Given the description of an element on the screen output the (x, y) to click on. 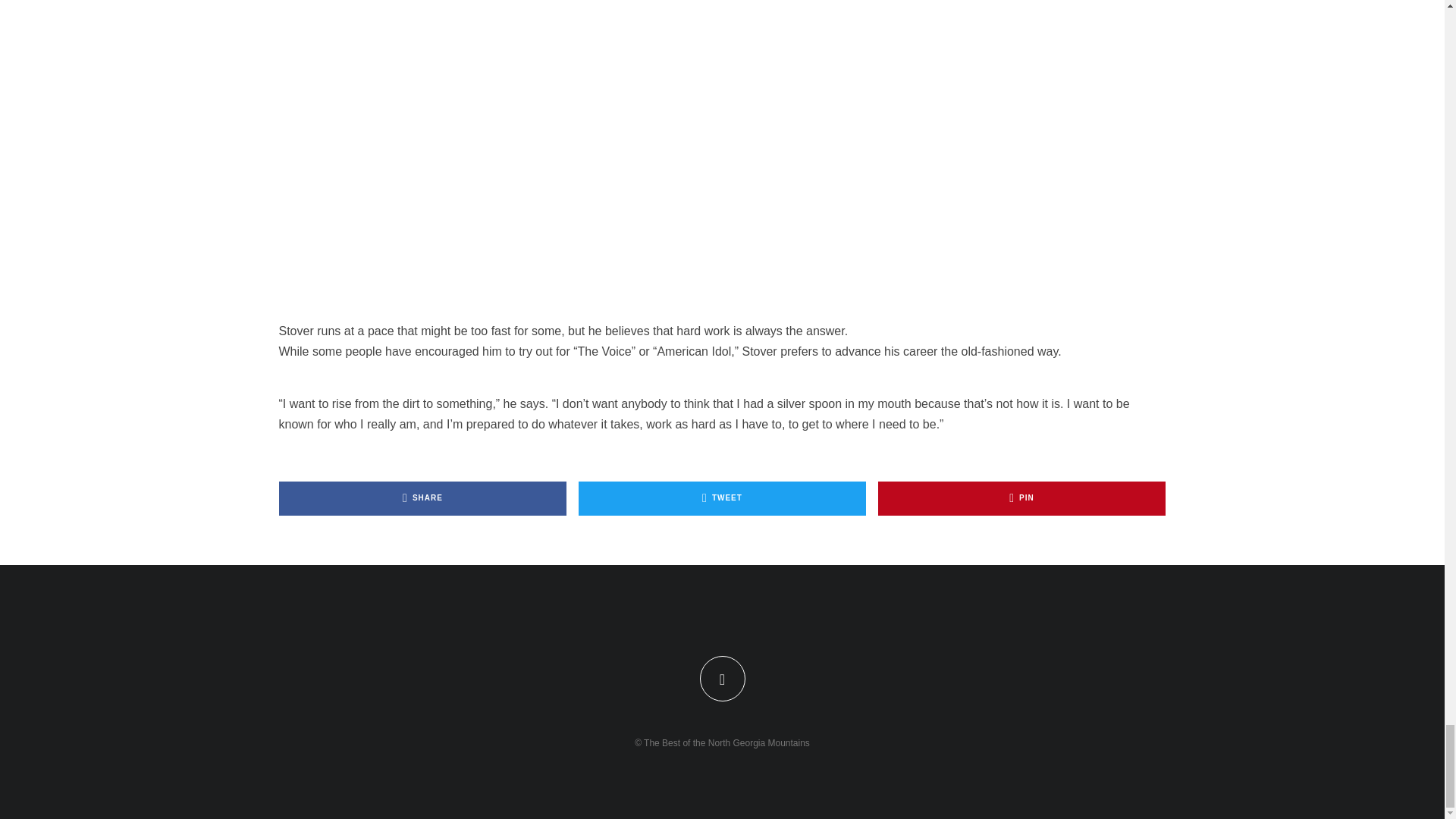
PIN (1021, 498)
TWEET (722, 498)
SHARE (423, 498)
